Given the description of an element on the screen output the (x, y) to click on. 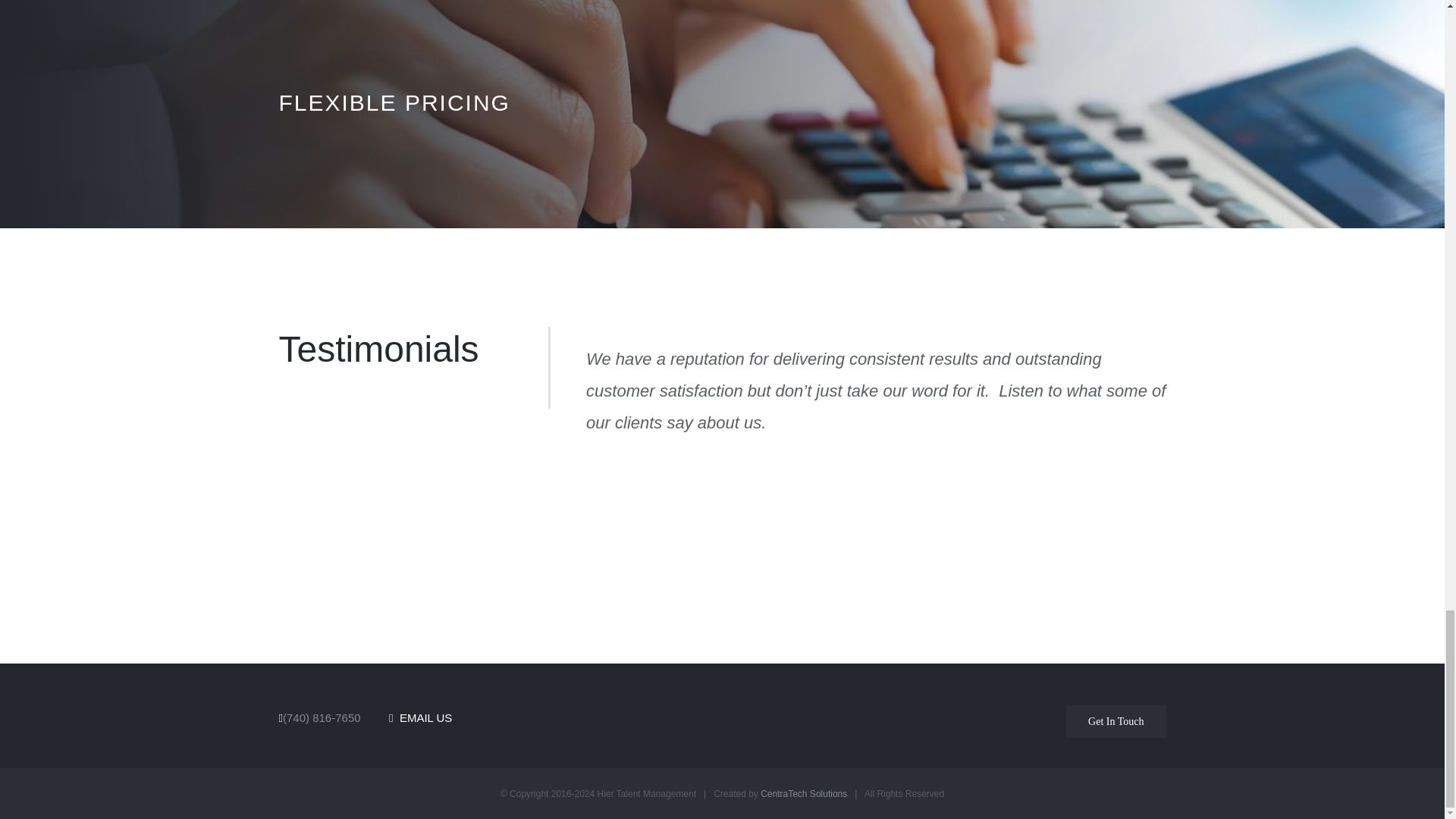
CentraTech Solutions (803, 793)
Get In Touch (1115, 721)
  EMAIL US (419, 717)
